Given the description of an element on the screen output the (x, y) to click on. 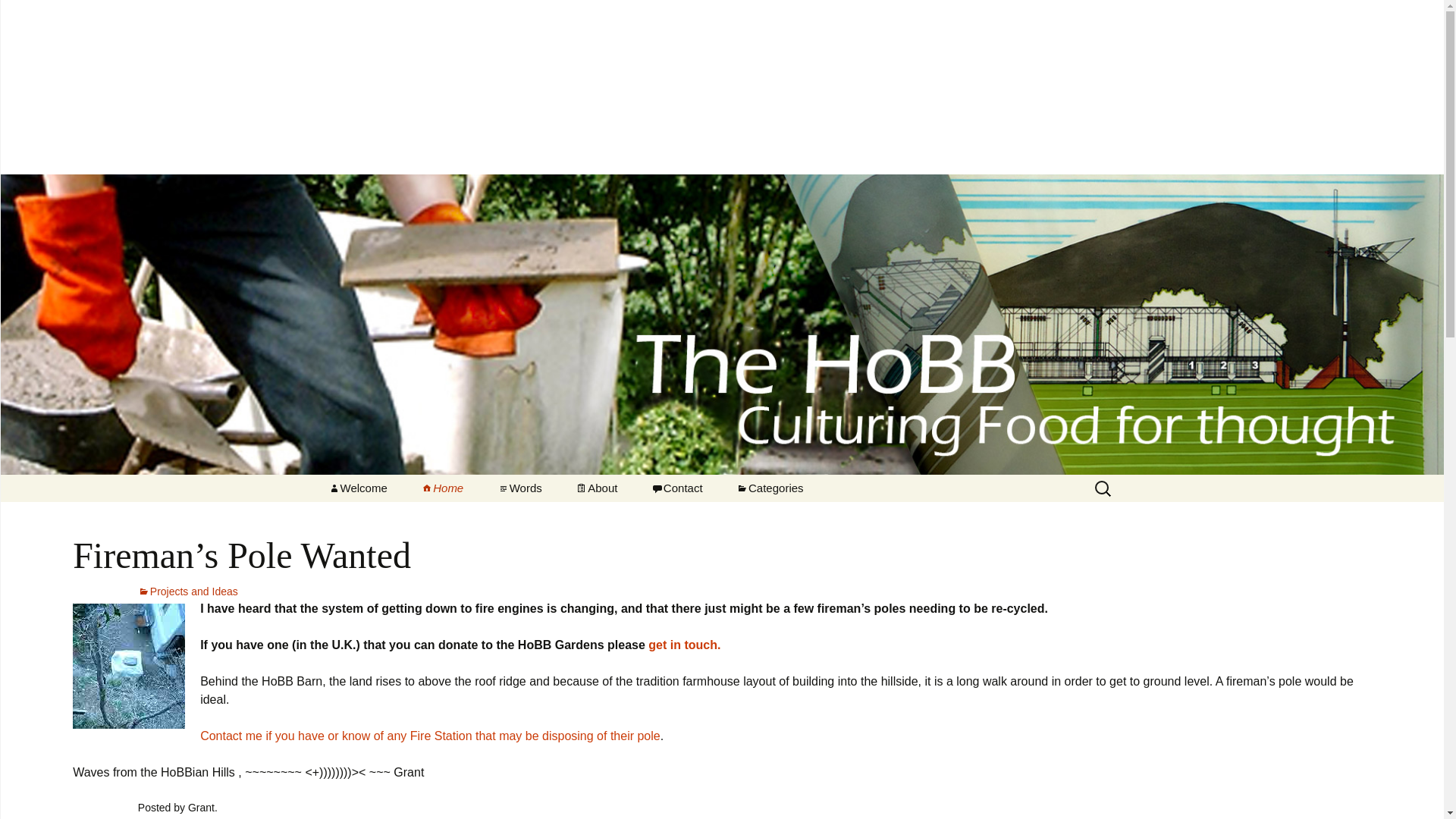
Words (519, 488)
Projects and Ideas (796, 515)
Categories (769, 488)
About (595, 488)
Contact (676, 488)
Projects and Ideas (188, 591)
Welcome (357, 488)
Search (18, 15)
Home (442, 488)
get in touch. (683, 644)
